Given the description of an element on the screen output the (x, y) to click on. 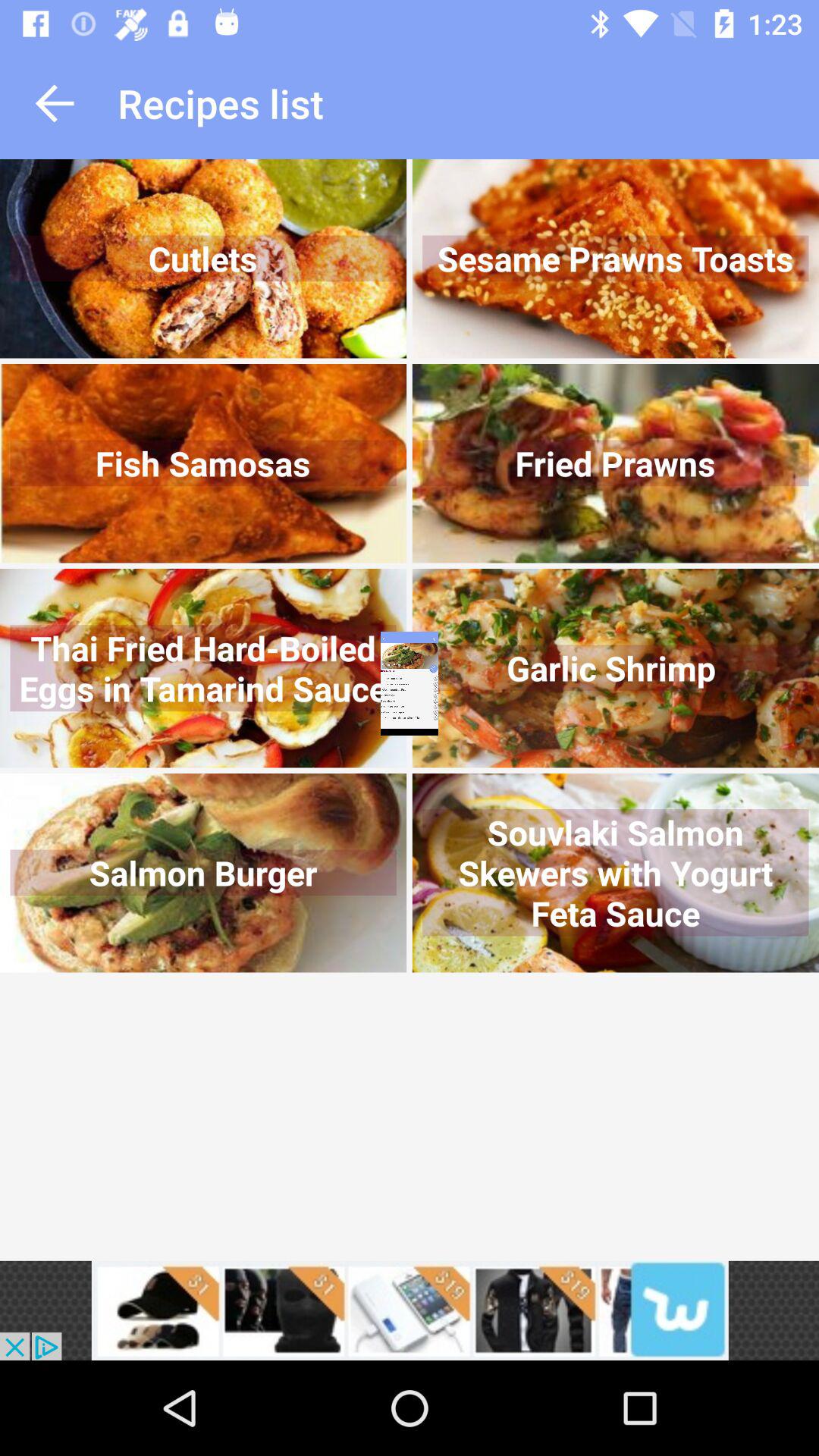
go back (54, 103)
